Given the description of an element on the screen output the (x, y) to click on. 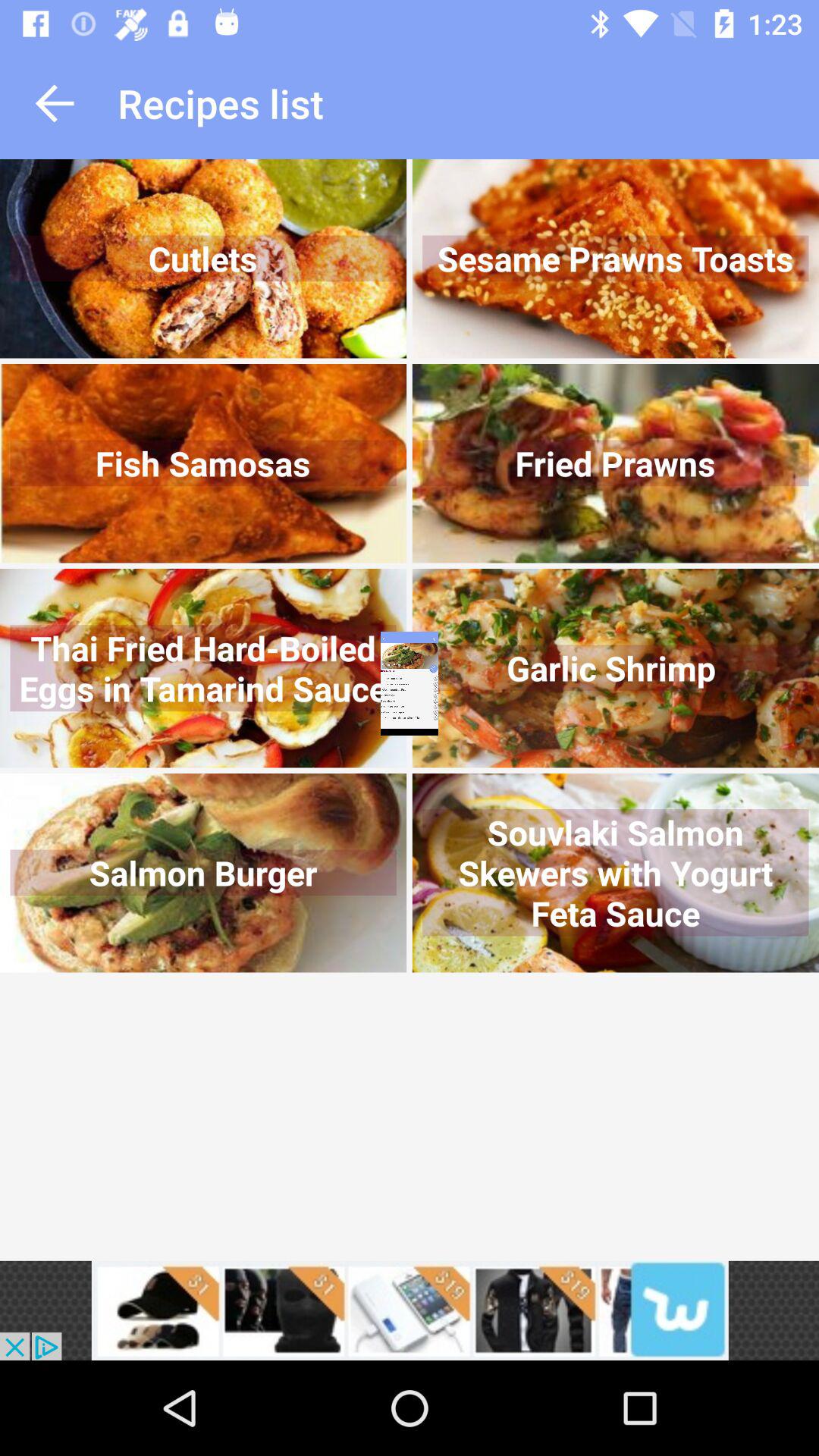
go back (54, 103)
